Given the description of an element on the screen output the (x, y) to click on. 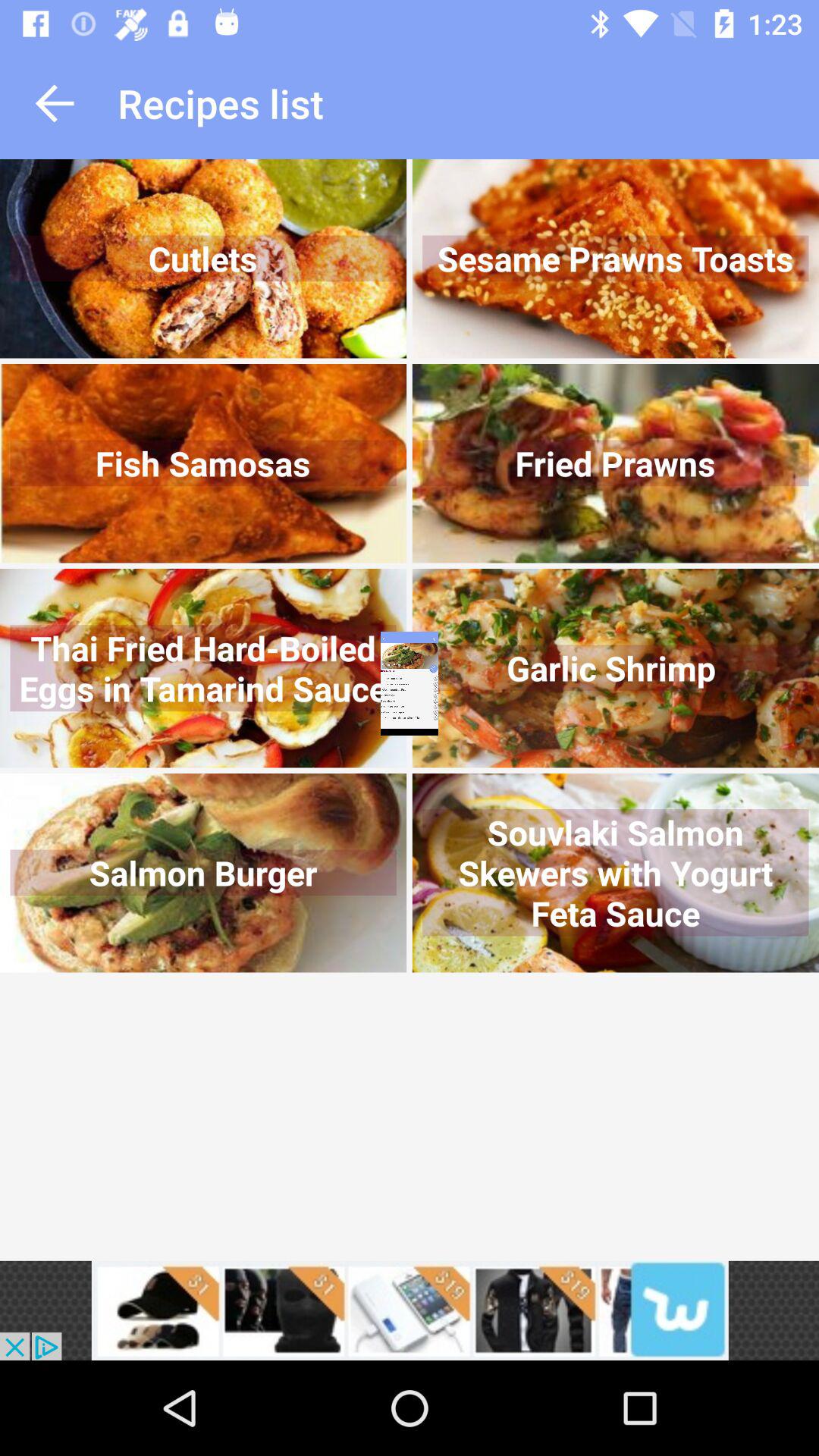
go back (54, 103)
